Given the description of an element on the screen output the (x, y) to click on. 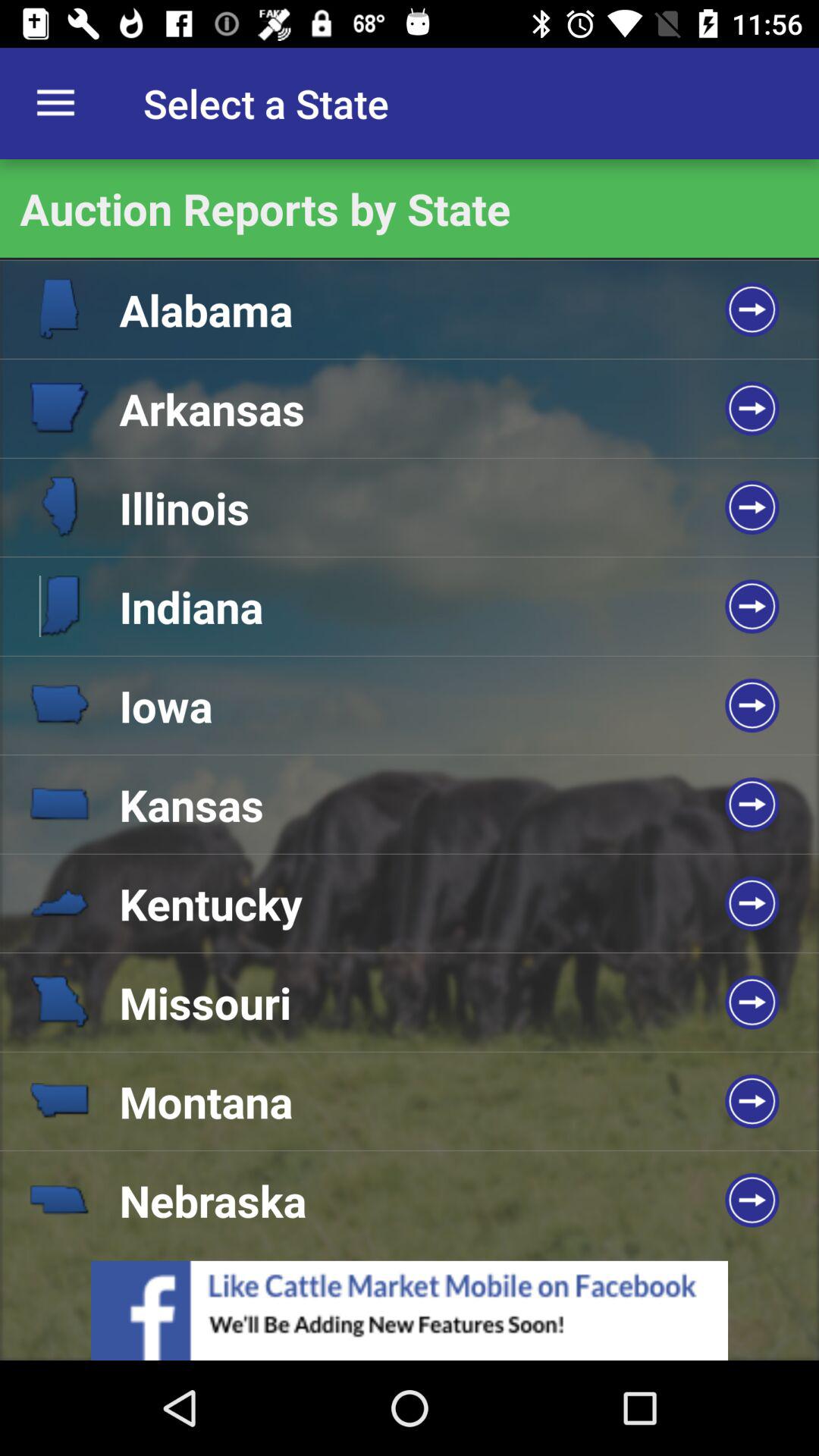
select the arrow right to missouri (751, 1002)
click on blue button right to arkansas (751, 408)
click on the arrow icon on the 8th row (751, 1101)
click on the arrow which is beside illinois (751, 507)
